Given the description of an element on the screen output the (x, y) to click on. 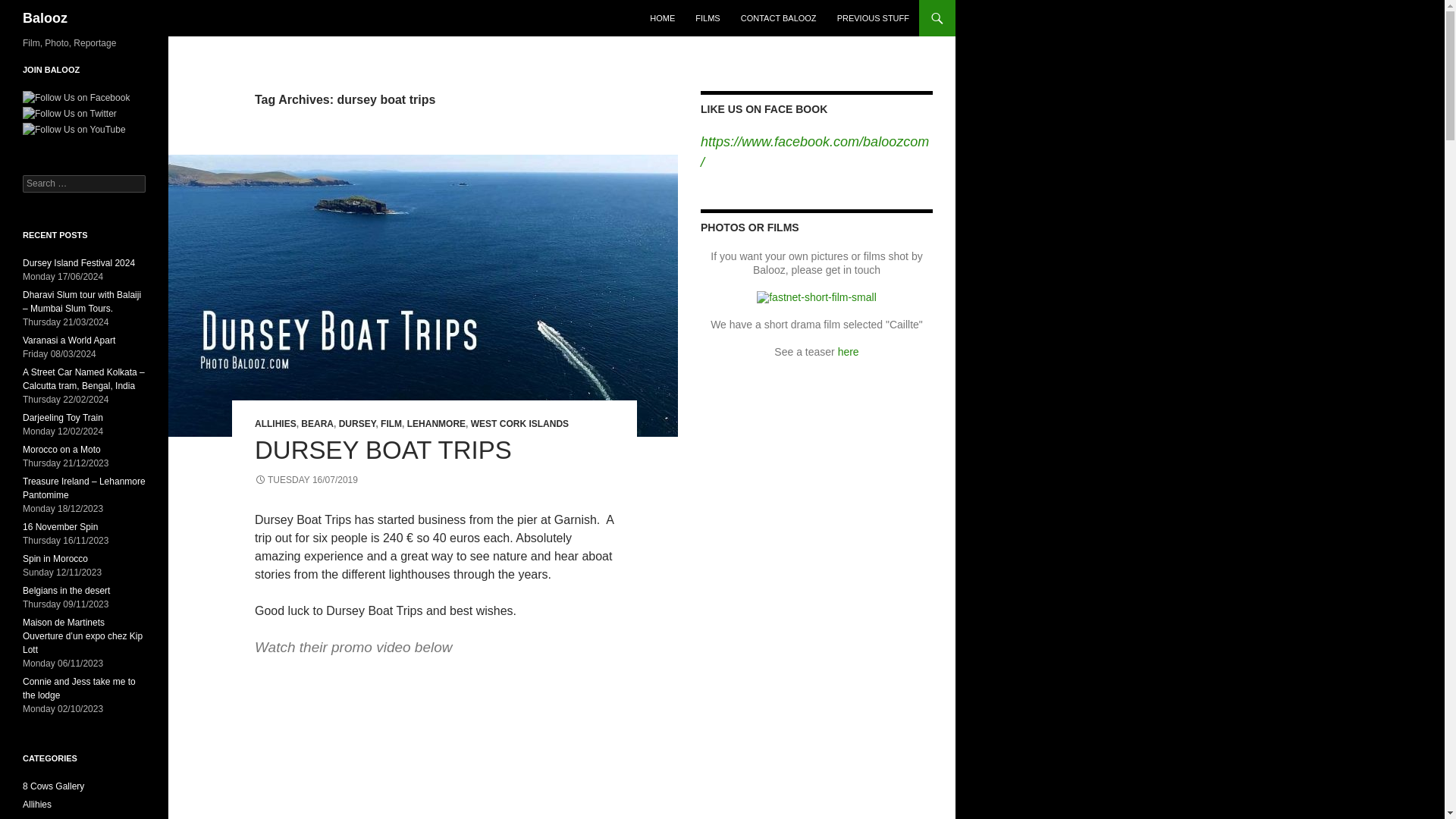
Follow Us on YouTube (74, 129)
Search (30, 8)
Balooz (44, 18)
BEARA (317, 423)
WEST CORK ISLANDS (519, 423)
ALLIHIES (275, 423)
HOME (662, 18)
DURSEY (357, 423)
Making Short Films (848, 351)
here (848, 351)
